Given the description of an element on the screen output the (x, y) to click on. 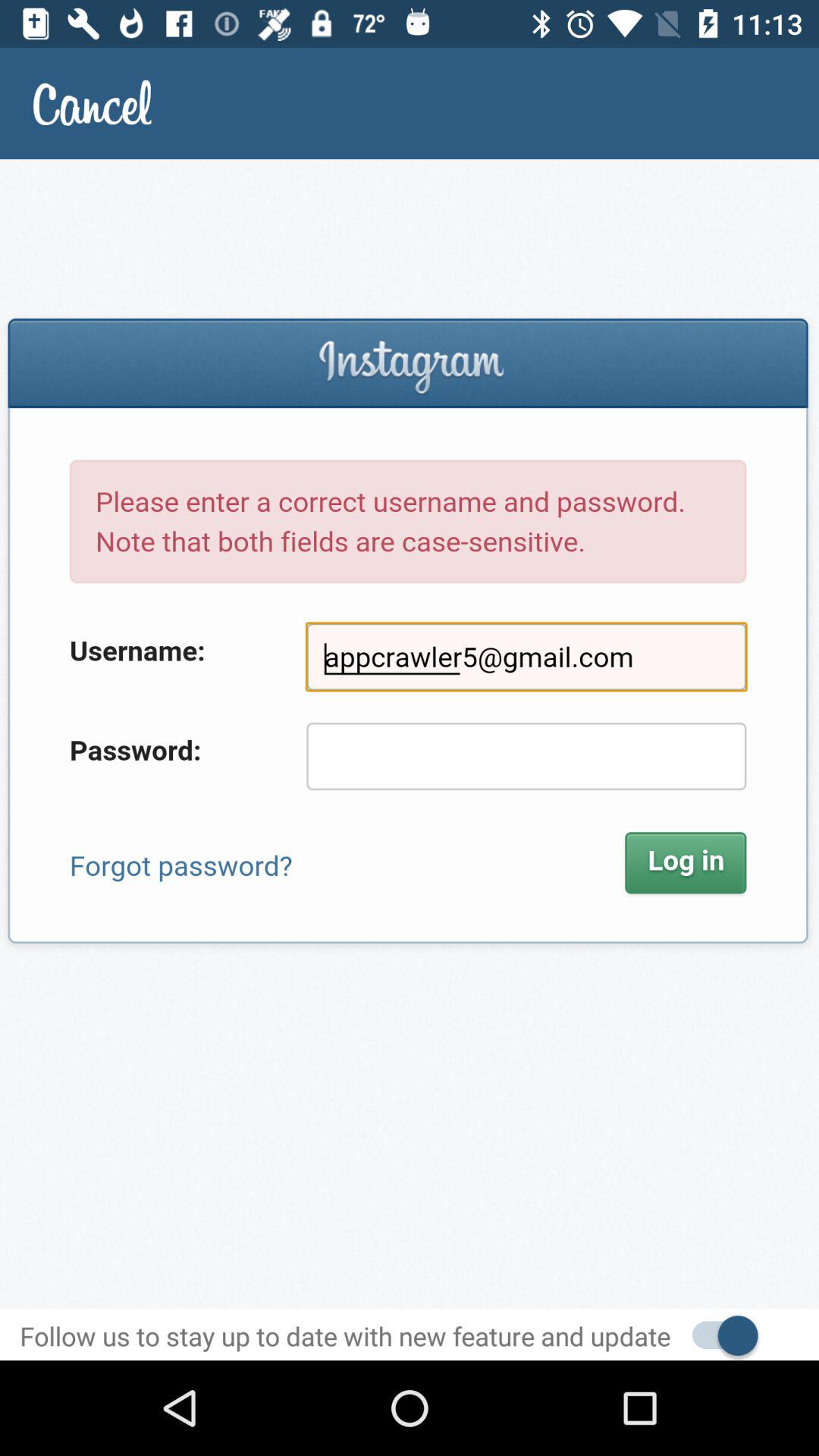
sign in screen (409, 733)
